Given the description of an element on the screen output the (x, y) to click on. 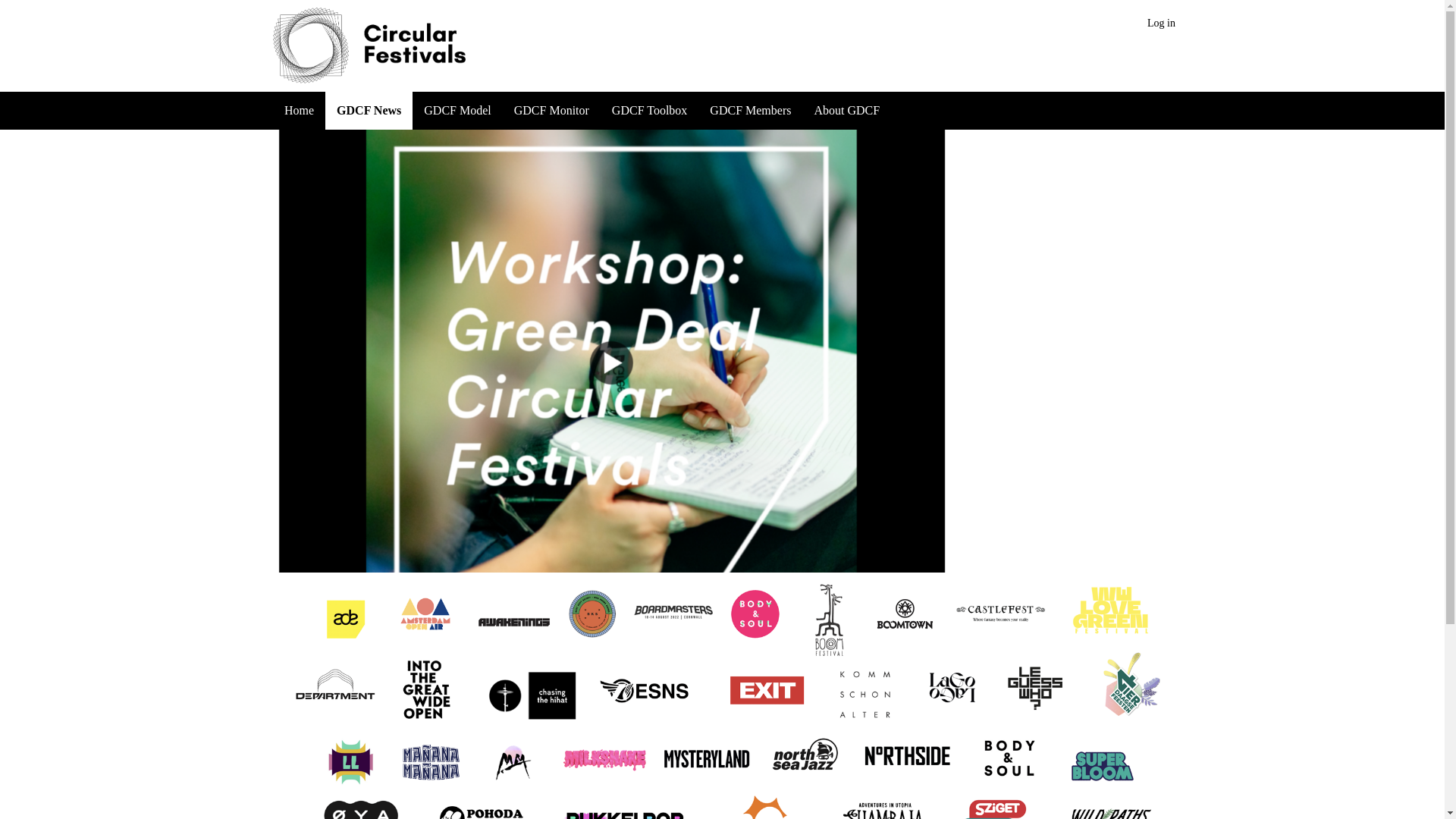
GDCF Model (457, 110)
GDCF News (368, 110)
Circular Festivals - Home (412, 45)
GDCF Toolbox (648, 110)
Home (298, 110)
Log in (1161, 22)
GDCF Members (750, 110)
About GDCF (846, 110)
GDCF Monitor (550, 110)
